Given the description of an element on the screen output the (x, y) to click on. 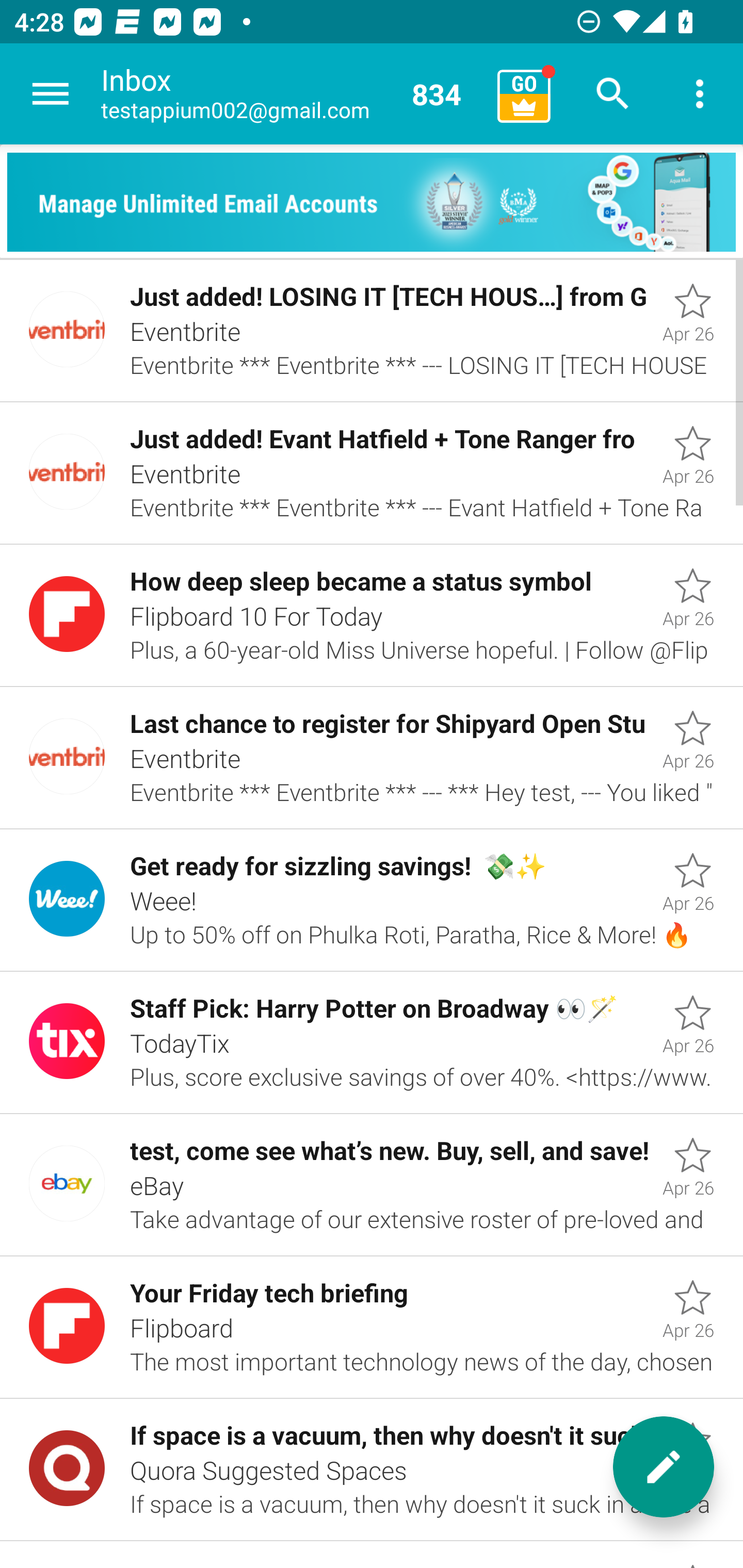
Navigate up (50, 93)
Inbox testappium002@gmail.com 834 (291, 93)
Search (612, 93)
More options (699, 93)
New message (663, 1466)
